Given the description of an element on the screen output the (x, y) to click on. 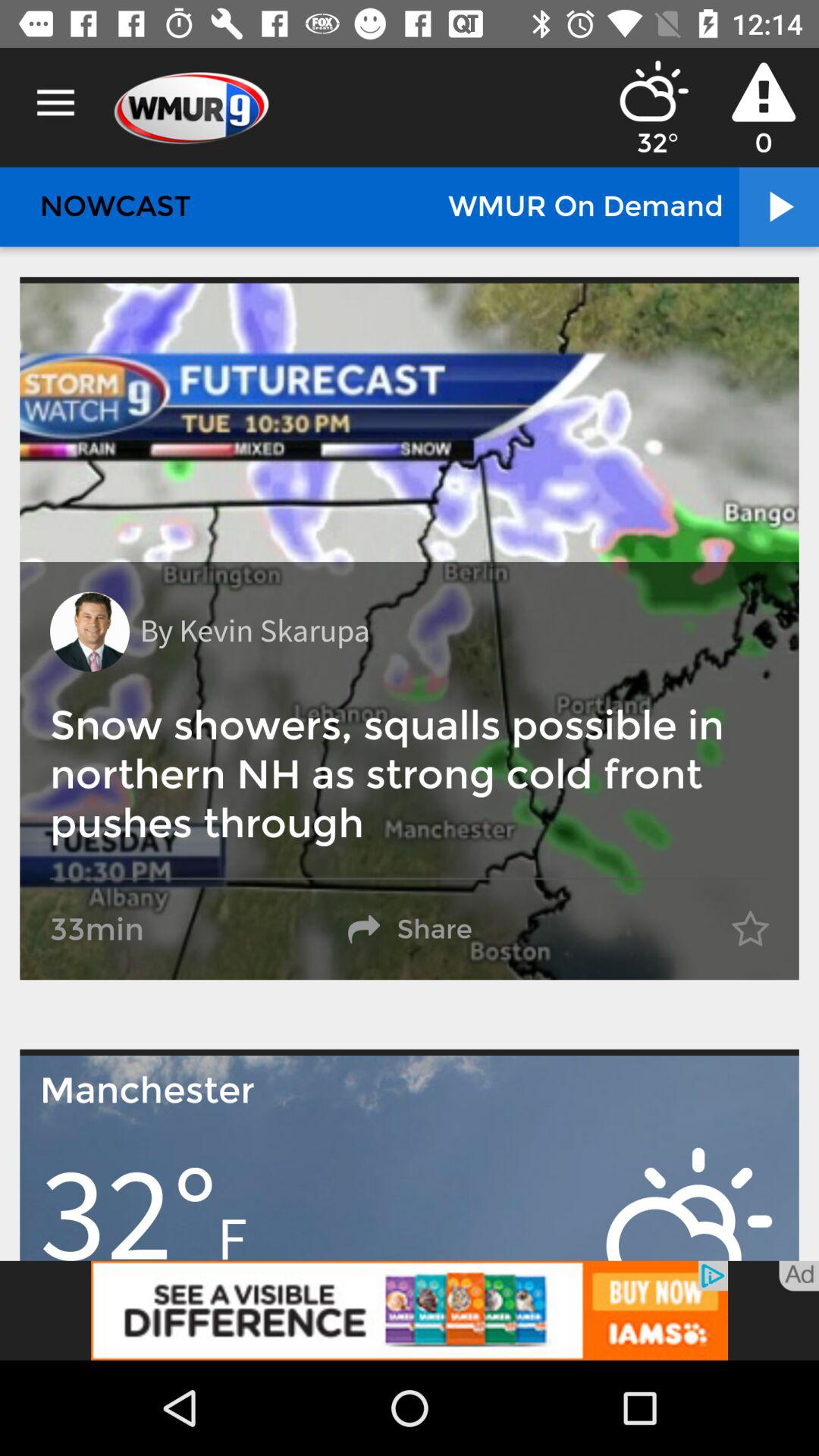
view advertisement (409, 1310)
